Given the description of an element on the screen output the (x, y) to click on. 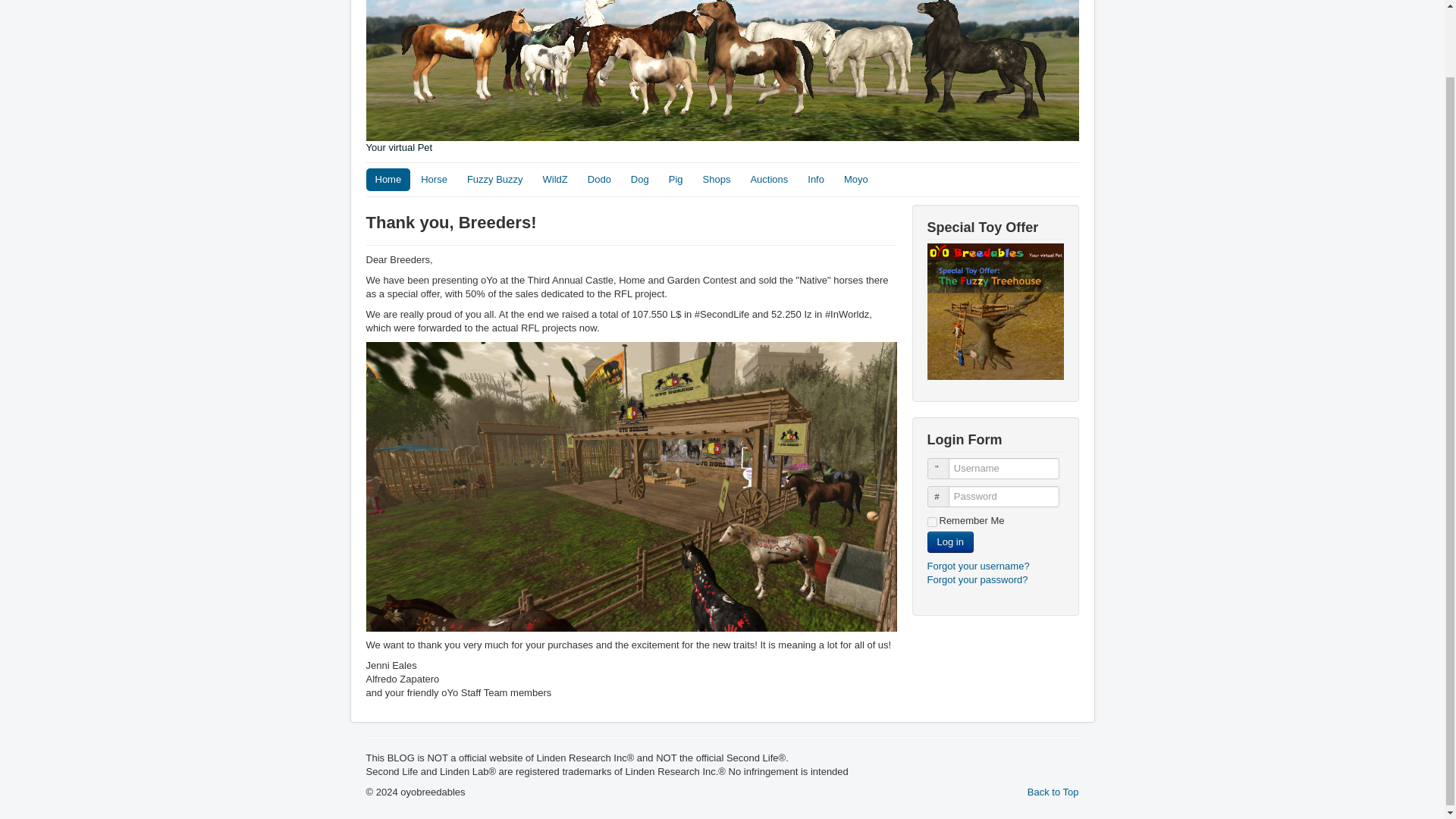
Info (814, 179)
Fuzzy Buzzy (495, 179)
Home (387, 179)
Horse (434, 179)
Dog (639, 179)
Auctions (768, 179)
Dodo (599, 179)
Shops (716, 179)
Your virtual Pet (721, 77)
Pig (676, 179)
yes (931, 521)
WildZ (555, 179)
